Given the description of an element on the screen output the (x, y) to click on. 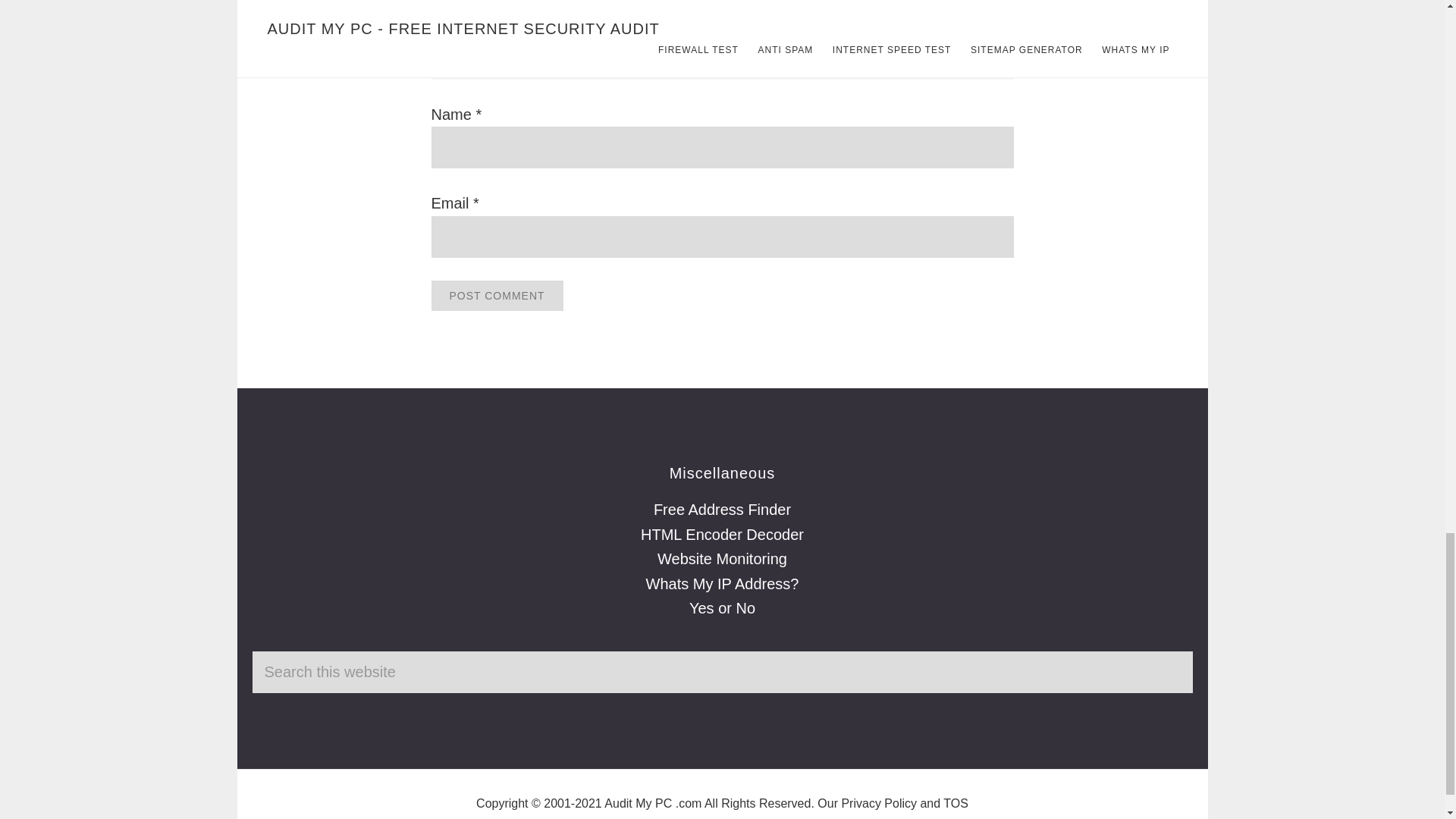
Privacy Policy (879, 802)
Post Comment (496, 295)
Audit My PC (637, 802)
AuditMyPC.com Privacy Statement (879, 802)
TOS (955, 802)
Yes or No (721, 607)
Post Comment (496, 295)
Free Address Finder (721, 509)
HTML Encoder Decoder (721, 534)
AuditMyPC.com Terms of Service (955, 802)
Website Monitoring (722, 558)
Whats My IP Address? (722, 583)
